Given the description of an element on the screen output the (x, y) to click on. 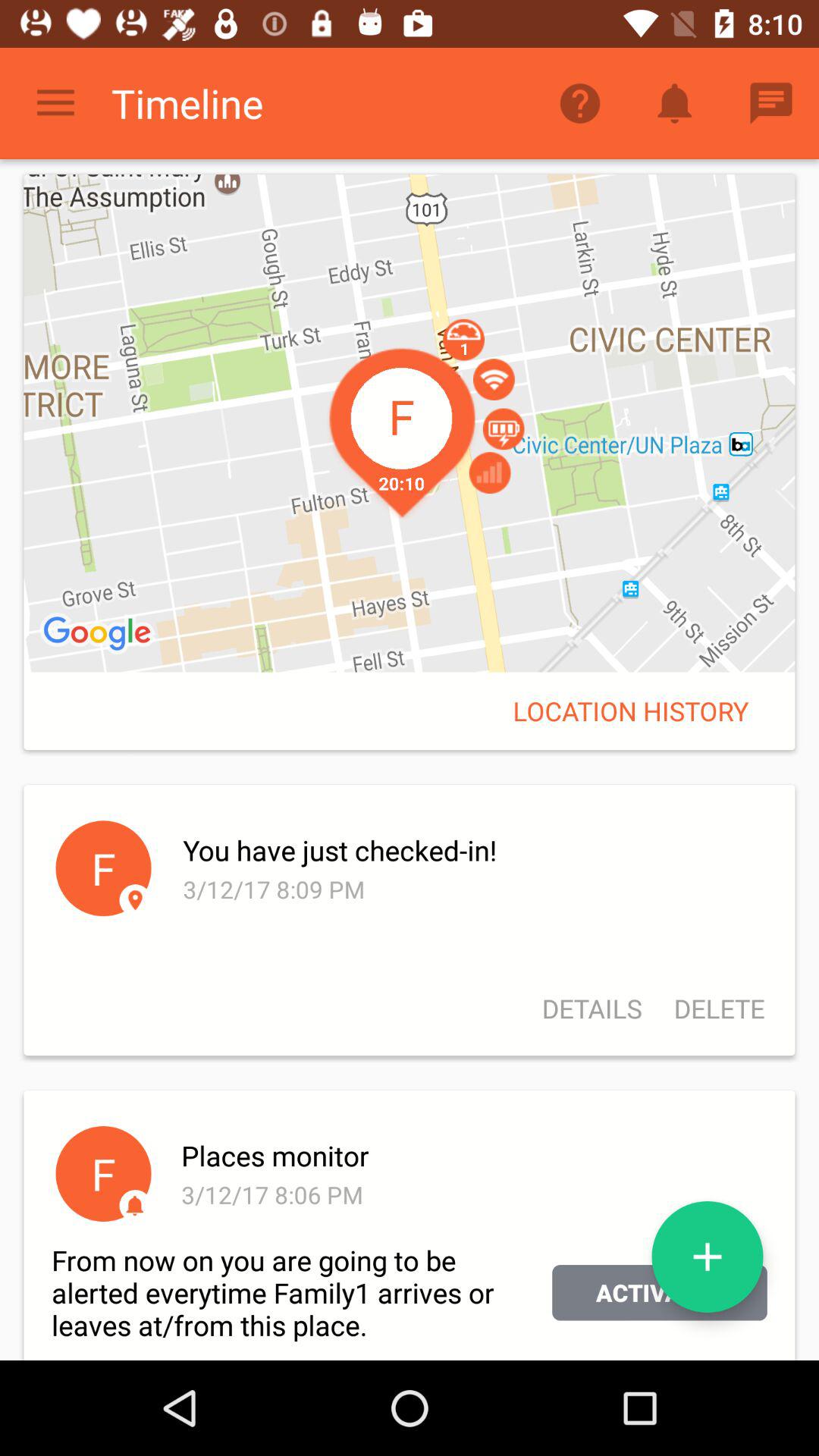
jump until the from now on icon (301, 1292)
